Given the description of an element on the screen output the (x, y) to click on. 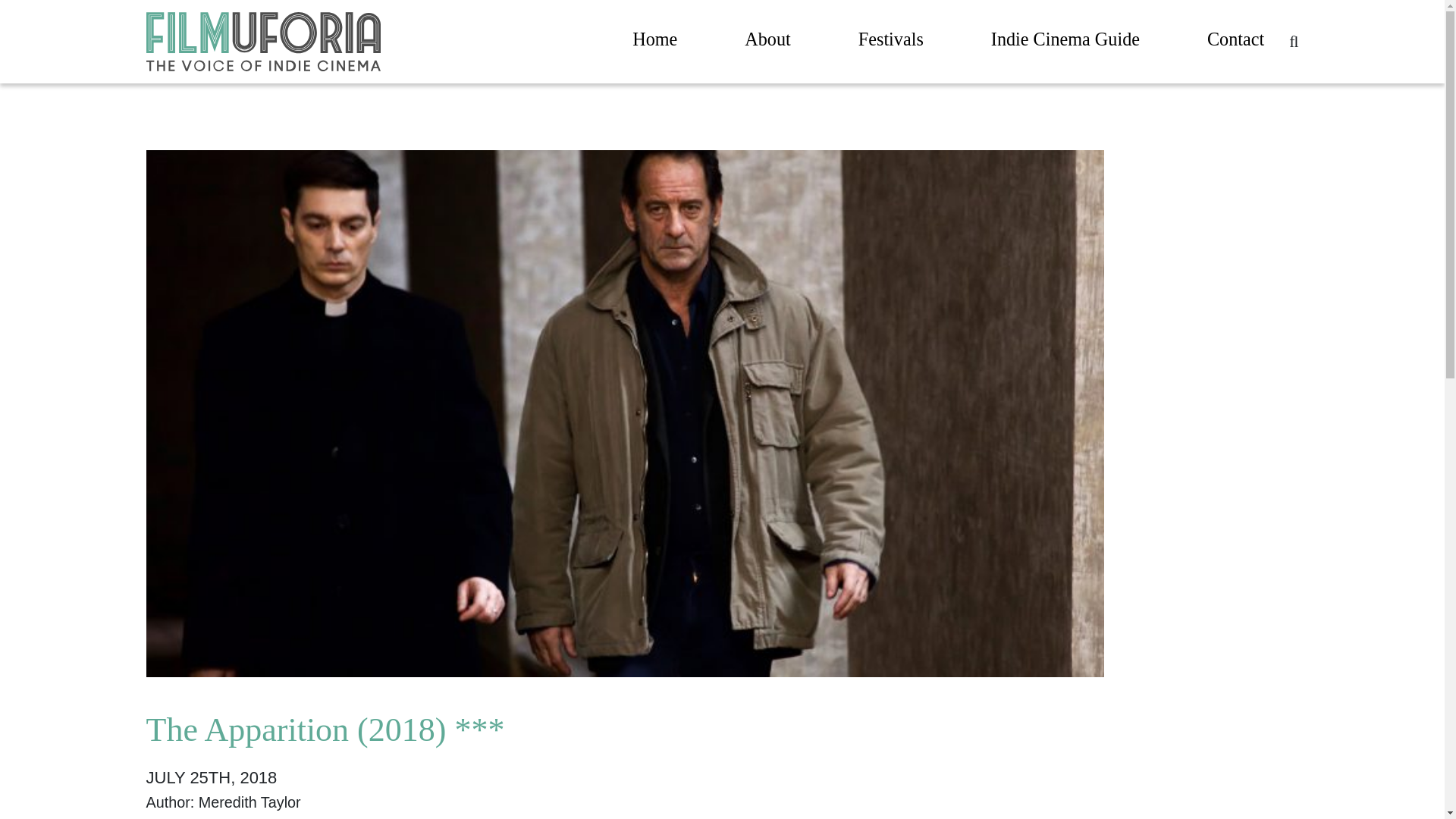
Home (654, 42)
Indie Cinema Guide (1065, 42)
About (767, 42)
Contact (1235, 42)
Festivals (891, 42)
